Given the description of an element on the screen output the (x, y) to click on. 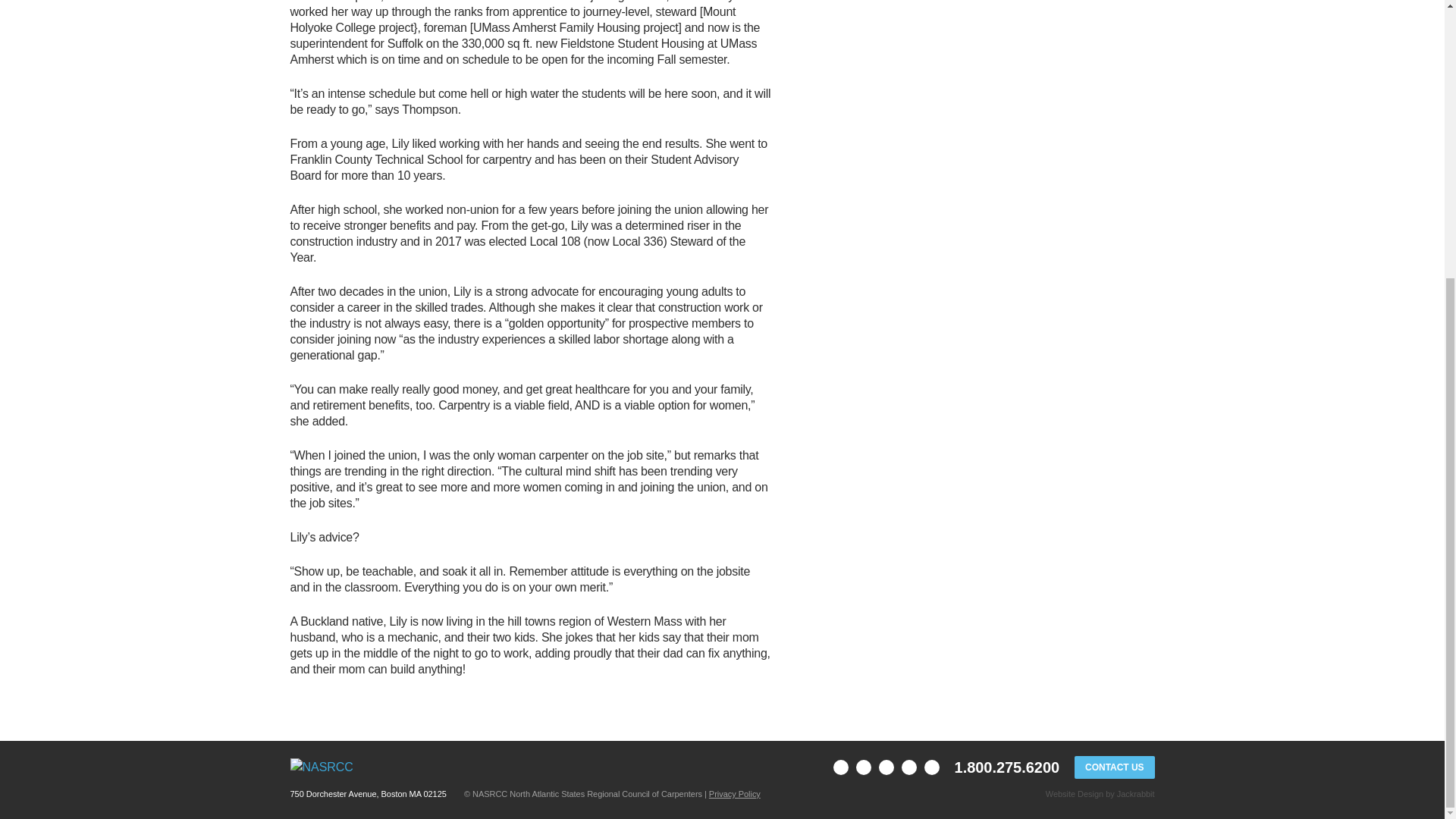
Website Design by Jackrabbit (1135, 793)
Website Design by Jackrabbit (1074, 793)
